Given the description of an element on the screen output the (x, y) to click on. 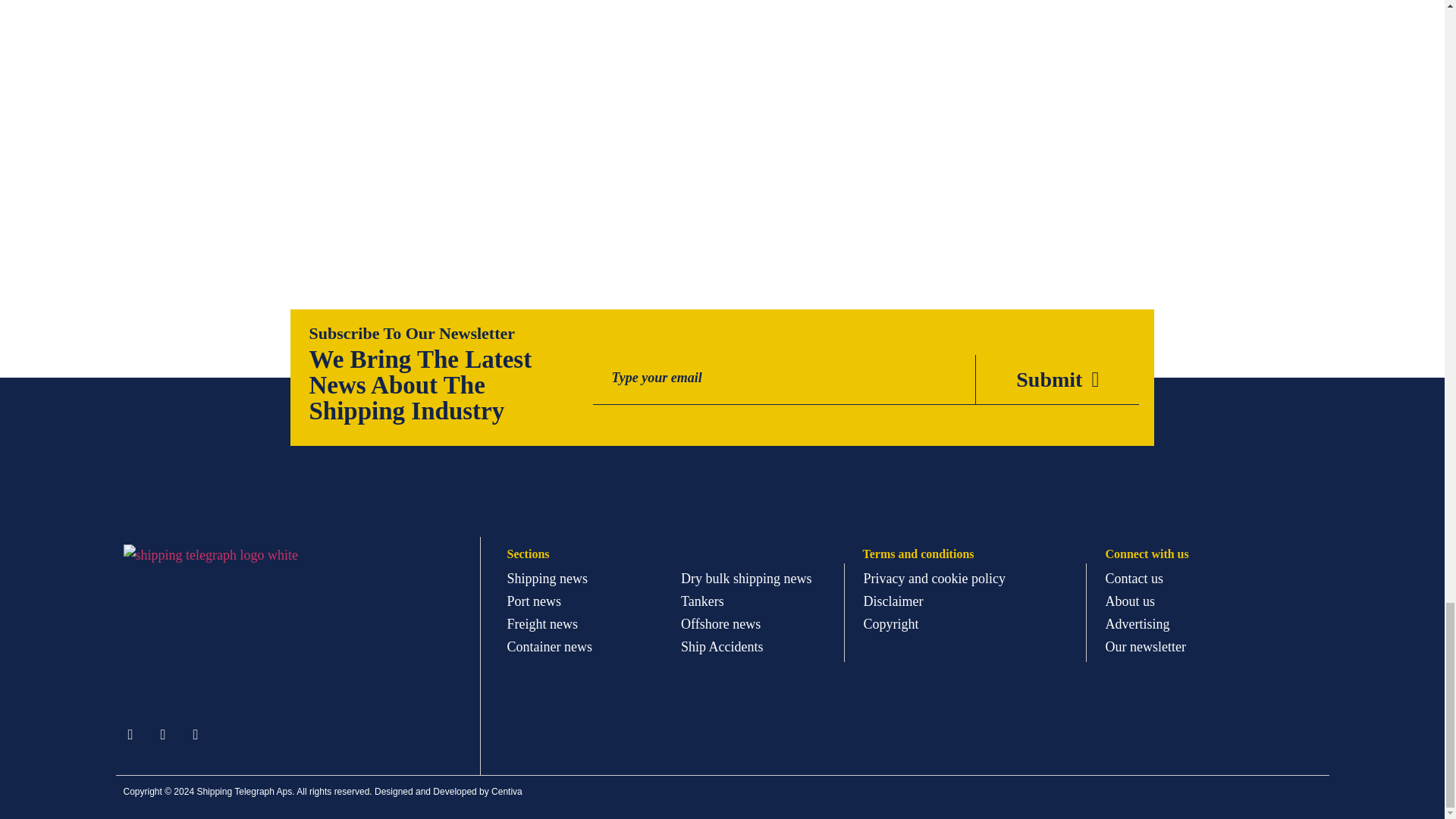
Submit (1056, 379)
